Given the description of an element on the screen output the (x, y) to click on. 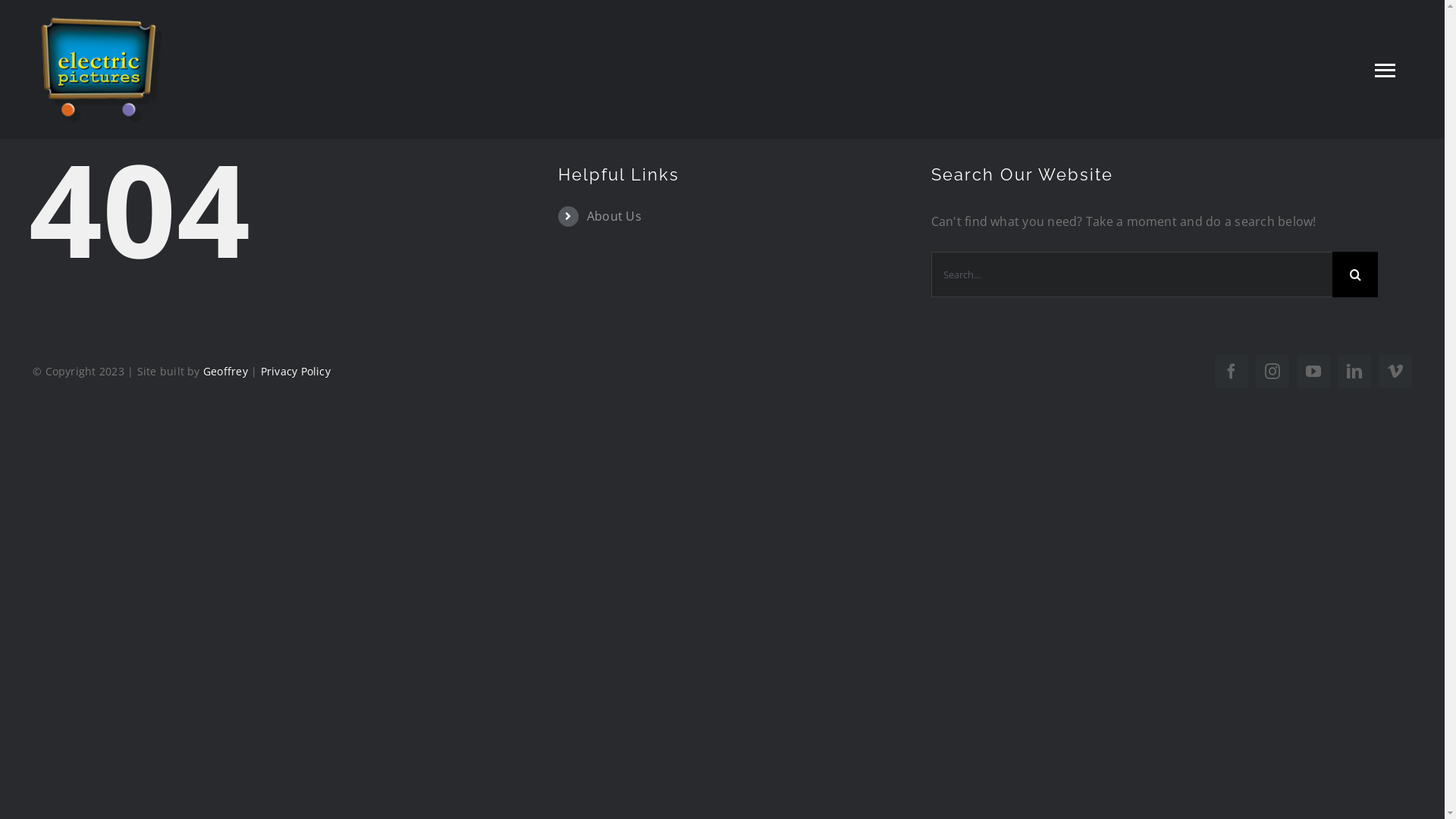
About Us Element type: text (613, 215)
Geoffrey Element type: text (225, 371)
Privacy Policy Element type: text (295, 371)
